Given the description of an element on the screen output the (x, y) to click on. 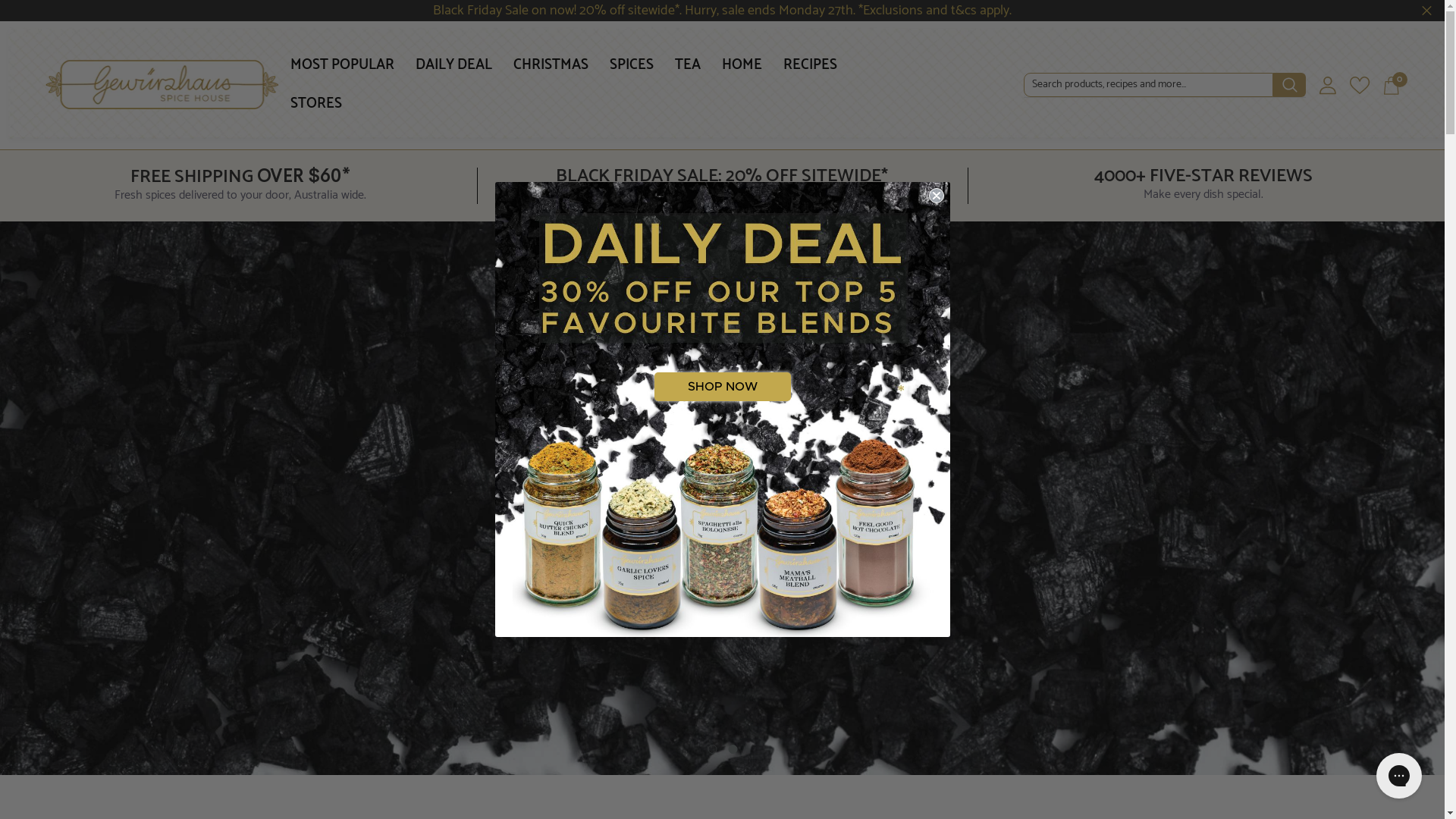
Submit Element type: text (21, 7)
MOST POPULAR Element type: text (341, 75)
CHRISTMAS Element type: text (550, 75)
1 Element type: text (711, 748)
TEA Element type: text (687, 75)
SHOP NOW Element type: text (721, 386)
HOME Element type: text (741, 75)
SPICES Element type: text (631, 75)
4000+ FIVE-STAR REVIEWS
Make every dish special. Element type: text (1203, 185)
STORES Element type: text (315, 114)
Close dialog 1 Element type: text (935, 195)
2 Element type: text (732, 748)
RECIPES Element type: text (809, 75)
Cart
0
0 items Element type: text (1391, 84)
Gorgias live chat messenger Element type: hover (1398, 775)
DAILY DEAL Element type: text (453, 75)
Close Element type: text (1426, 10)
SHOP NOW Element type: text (721, 572)
